Given the description of an element on the screen output the (x, y) to click on. 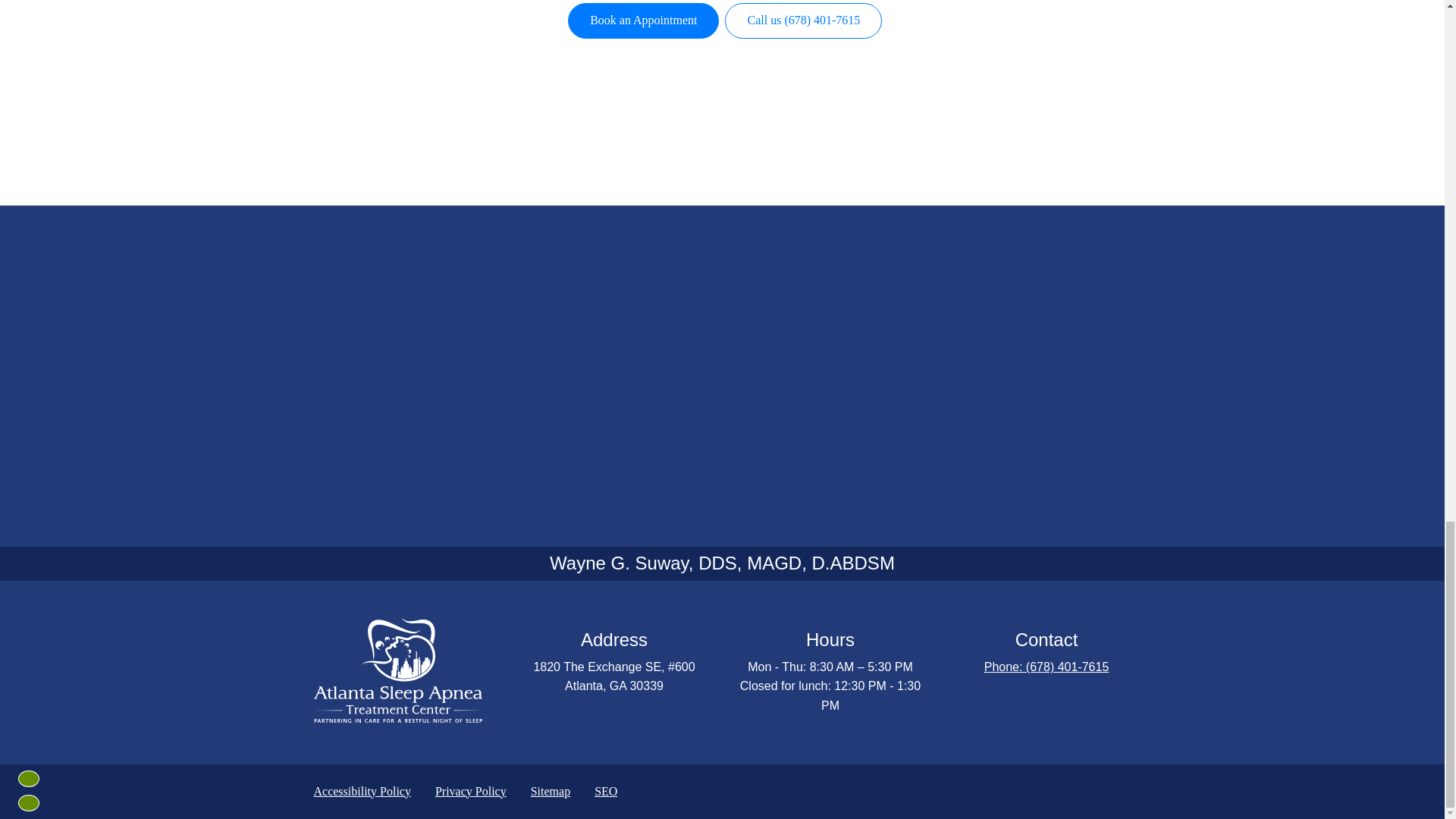
Privacy Policy (470, 791)
SEO (605, 791)
Sitemap (550, 791)
Book an Appointment (643, 21)
Accessibility Policy (362, 791)
